Given the description of an element on the screen output the (x, y) to click on. 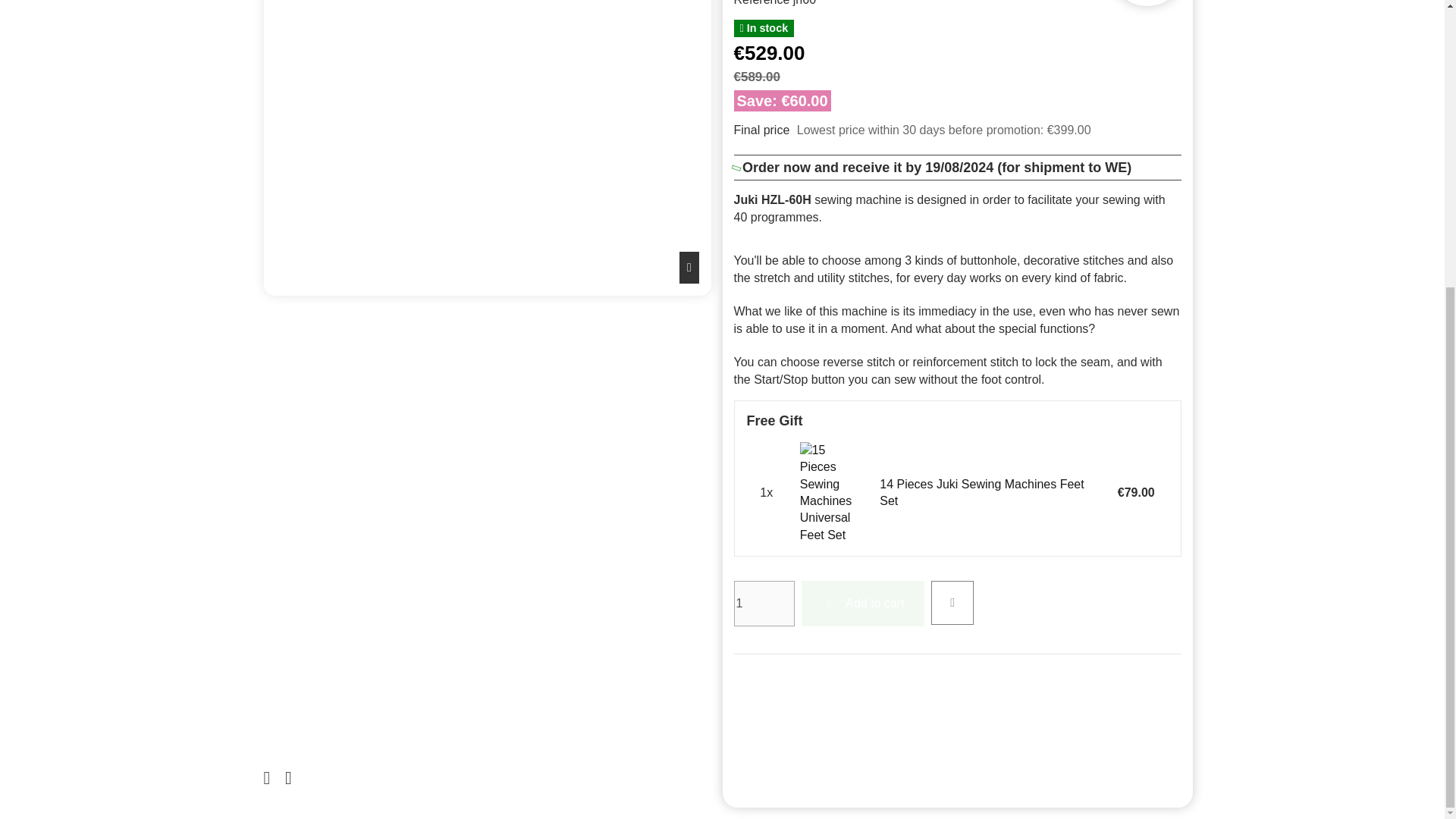
1 (763, 603)
Juki HZL-60H Sewing Machine (486, 147)
Add to wishlist (952, 602)
